Given the description of an element on the screen output the (x, y) to click on. 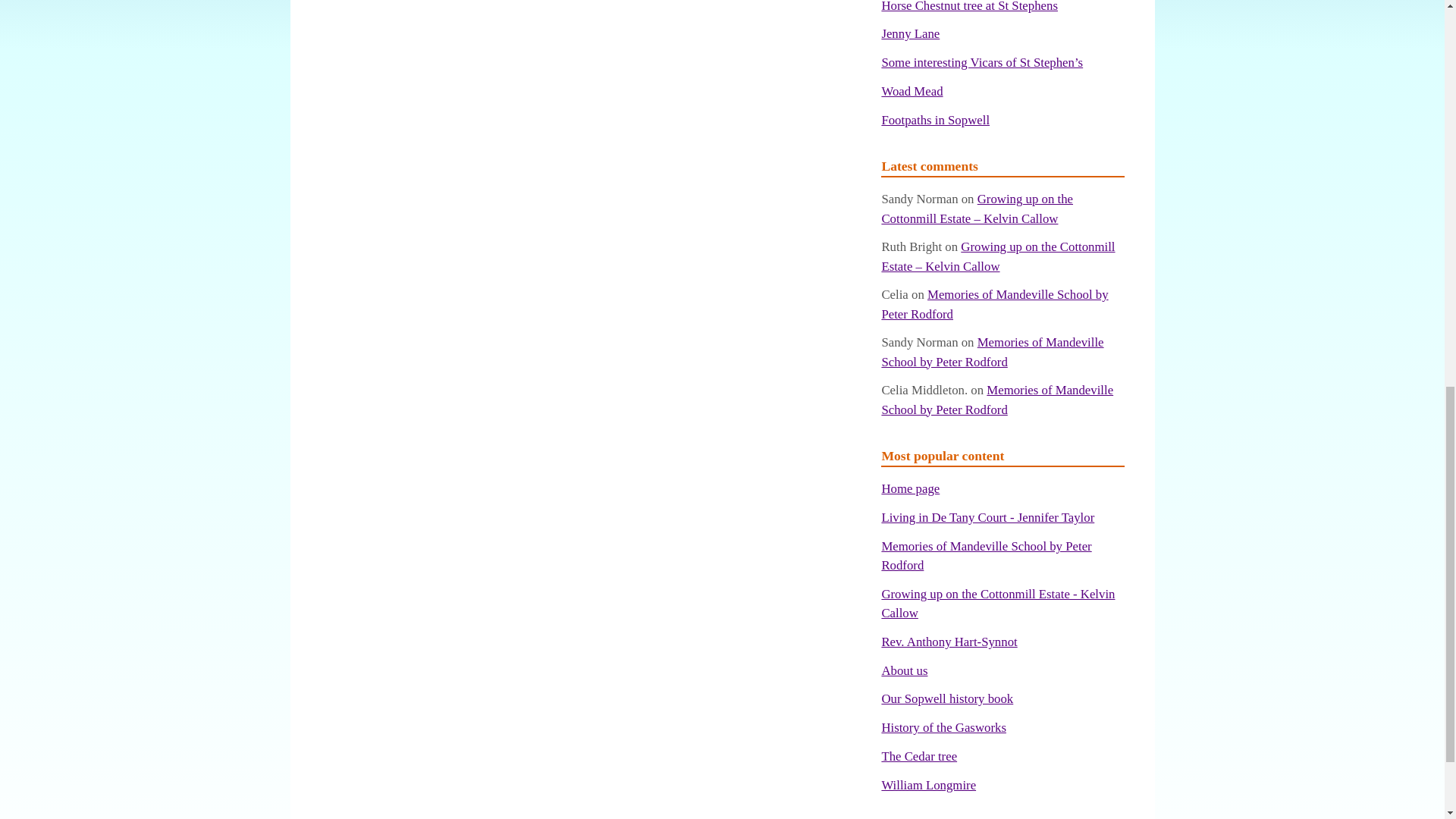
Memories of Mandeville School by Peter Rodford (991, 351)
Our Sopwell history book (946, 698)
Horse Chestnut tree at St Stephens (969, 6)
Home page (909, 488)
Memories of Mandeville School by Peter Rodford (994, 304)
History of the Gasworks (943, 727)
Footpaths in Sopwell (935, 120)
About us (903, 670)
Growing up on the Cottonmill Estate - Kelvin Callow (997, 603)
Memories of Mandeville School by Peter Rodford (985, 555)
Rev. Anthony Hart-Synnot (948, 641)
Memories of Mandeville School by Peter Rodford (996, 399)
Woad Mead (911, 91)
Living in De Tany Court - Jennifer Taylor (987, 517)
Jenny Lane (909, 33)
